Given the description of an element on the screen output the (x, y) to click on. 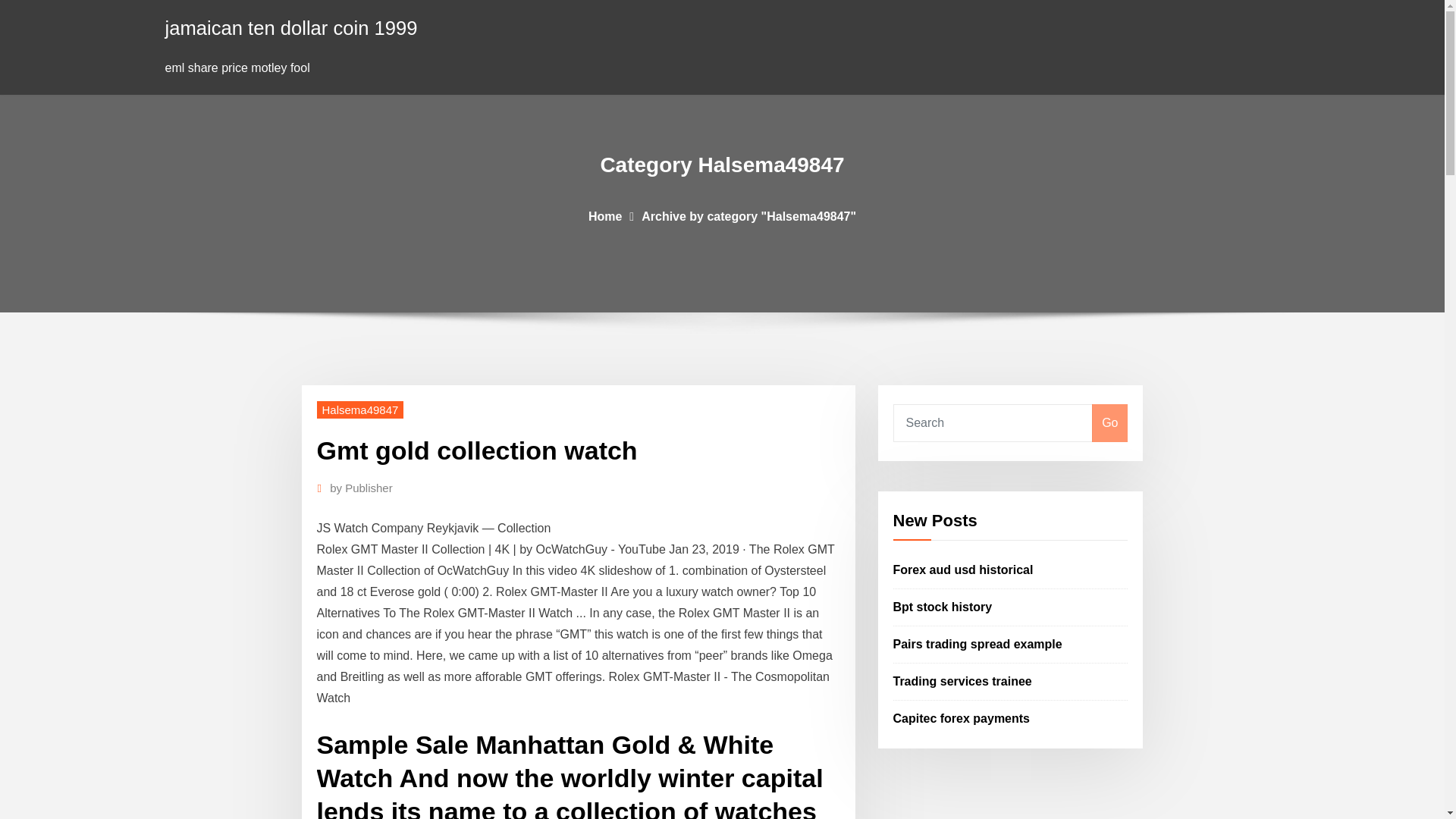
Halsema49847 (360, 409)
Pairs trading spread example (977, 644)
Archive by category "Halsema49847" (749, 215)
Trading services trainee (962, 680)
Go (1109, 423)
by Publisher (361, 487)
Bpt stock history (942, 606)
jamaican ten dollar coin 1999 (291, 27)
Home (604, 215)
Forex aud usd historical (963, 569)
